Given the description of an element on the screen output the (x, y) to click on. 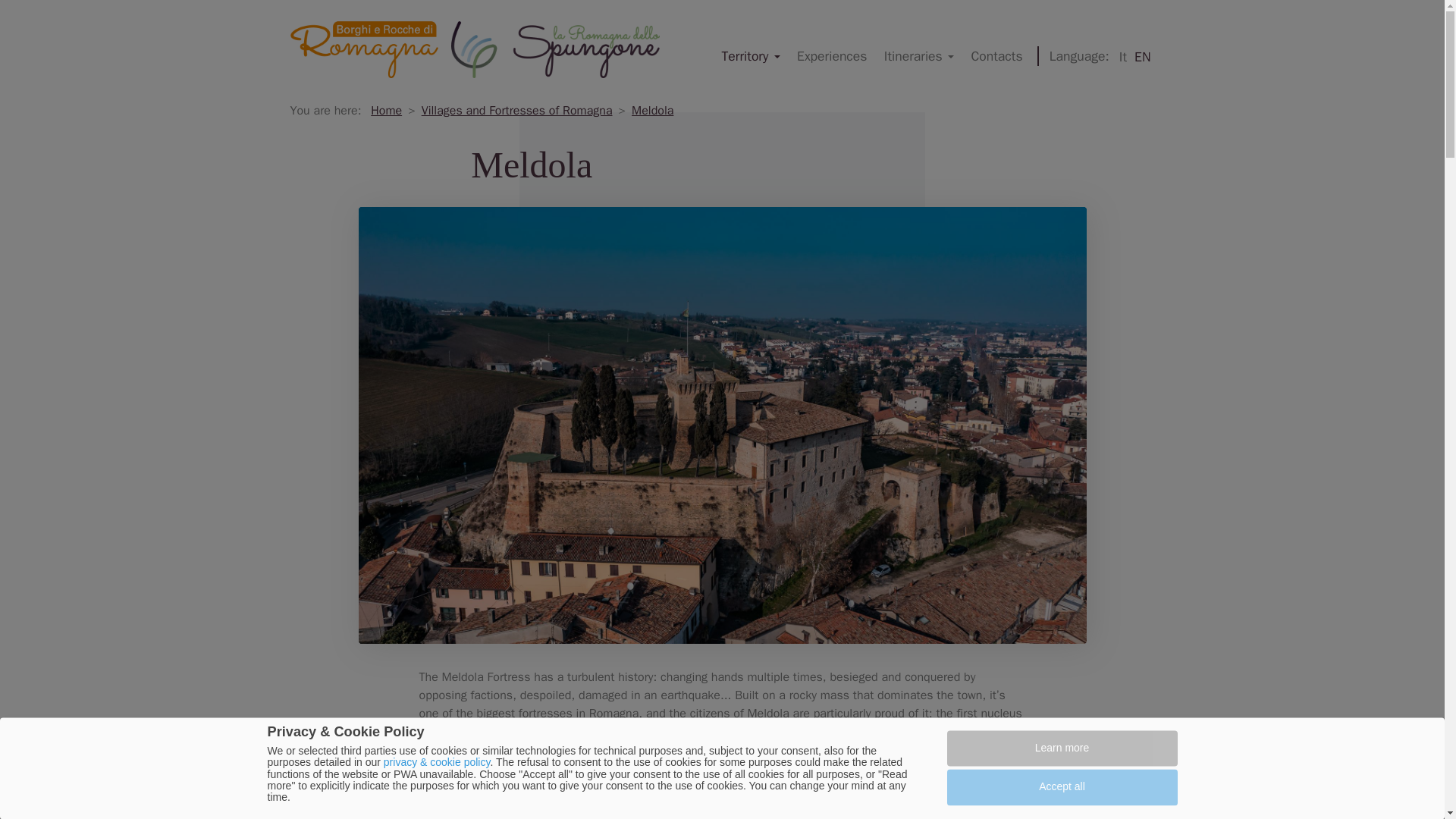
EN (1142, 57)
Learn more (1061, 747)
Home (386, 110)
Villages and Fortresses of Romagna (517, 110)
Territory (751, 56)
Experiences (832, 56)
Meldola (651, 110)
Contacts (996, 56)
Readmore (725, 789)
Accept all (1061, 787)
Itineraries (919, 56)
